Given the description of an element on the screen output the (x, y) to click on. 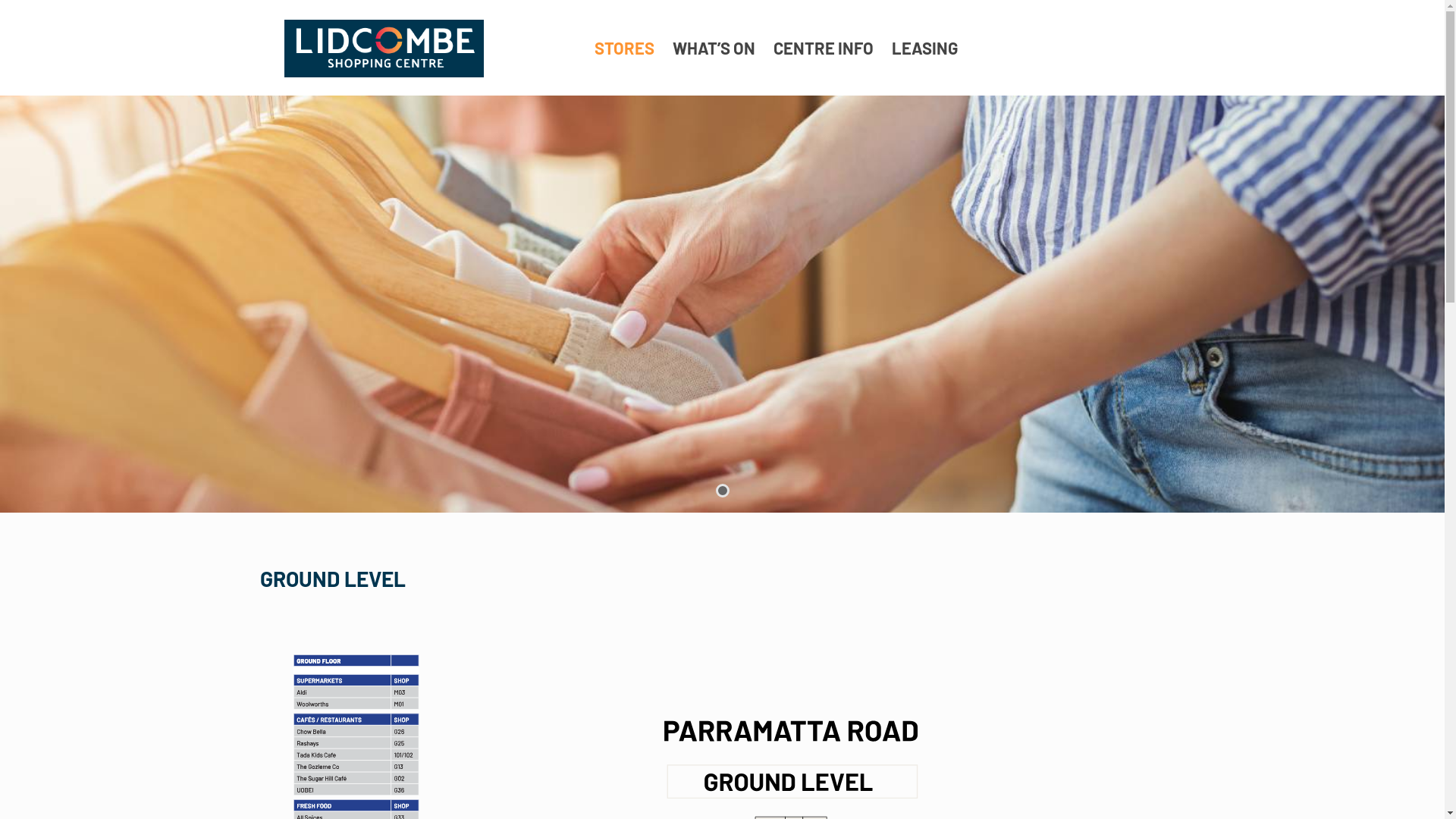
Lidcombe Element type: hover (383, 47)
CENTRE INFO Element type: text (823, 47)
LEASING Element type: text (924, 47)
STORES Element type: text (624, 47)
